Given the description of an element on the screen output the (x, y) to click on. 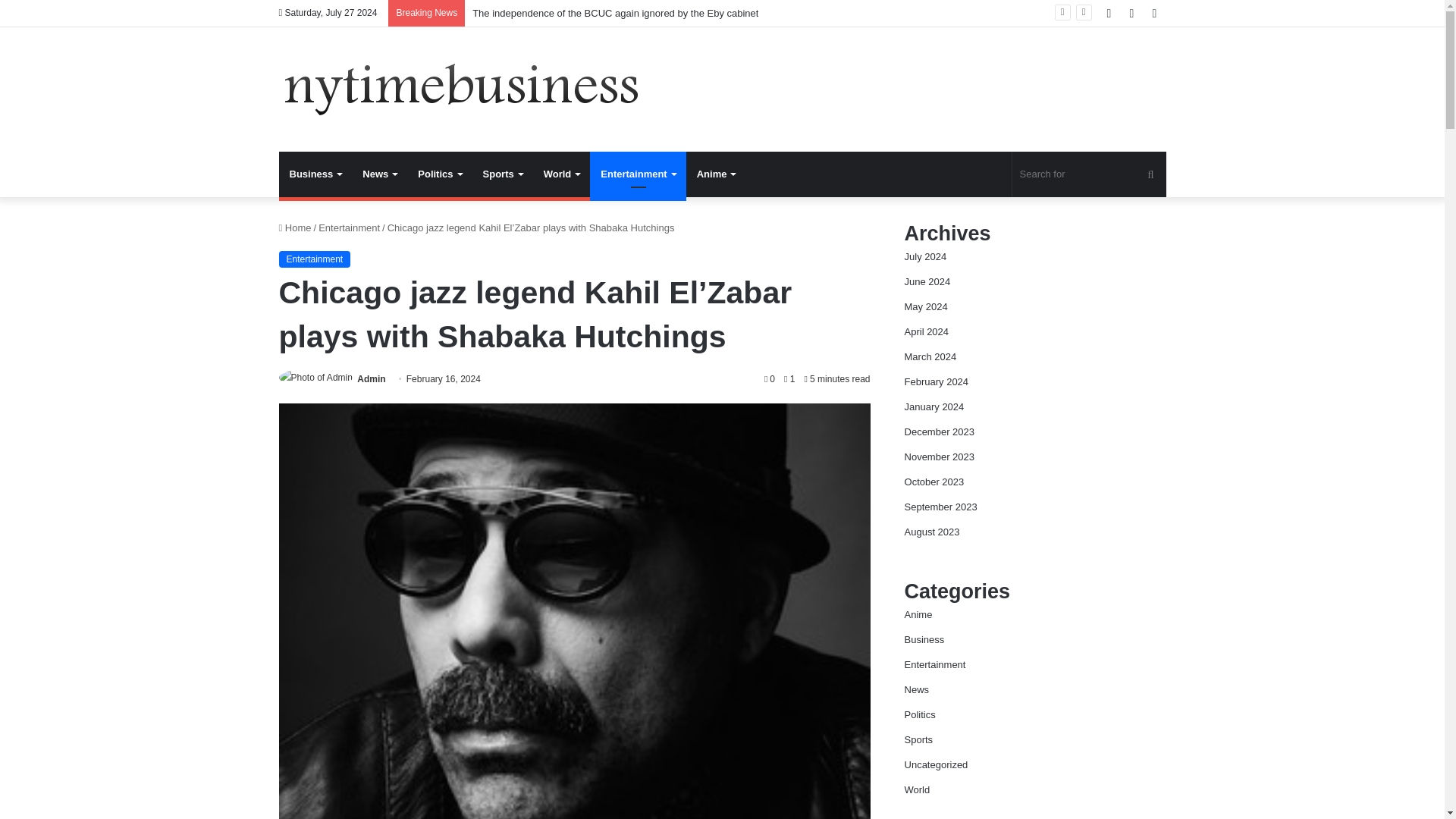
Log In (1109, 13)
Politics (439, 174)
Admin (370, 378)
nytimebusiness (462, 89)
Home (295, 227)
Entertainment (349, 227)
Admin (370, 378)
Sports (501, 174)
Entertainment (637, 174)
Entertainment (314, 258)
Sidebar (1154, 13)
Search for (1150, 174)
Search for (1088, 174)
Anime (715, 174)
